Given the description of an element on the screen output the (x, y) to click on. 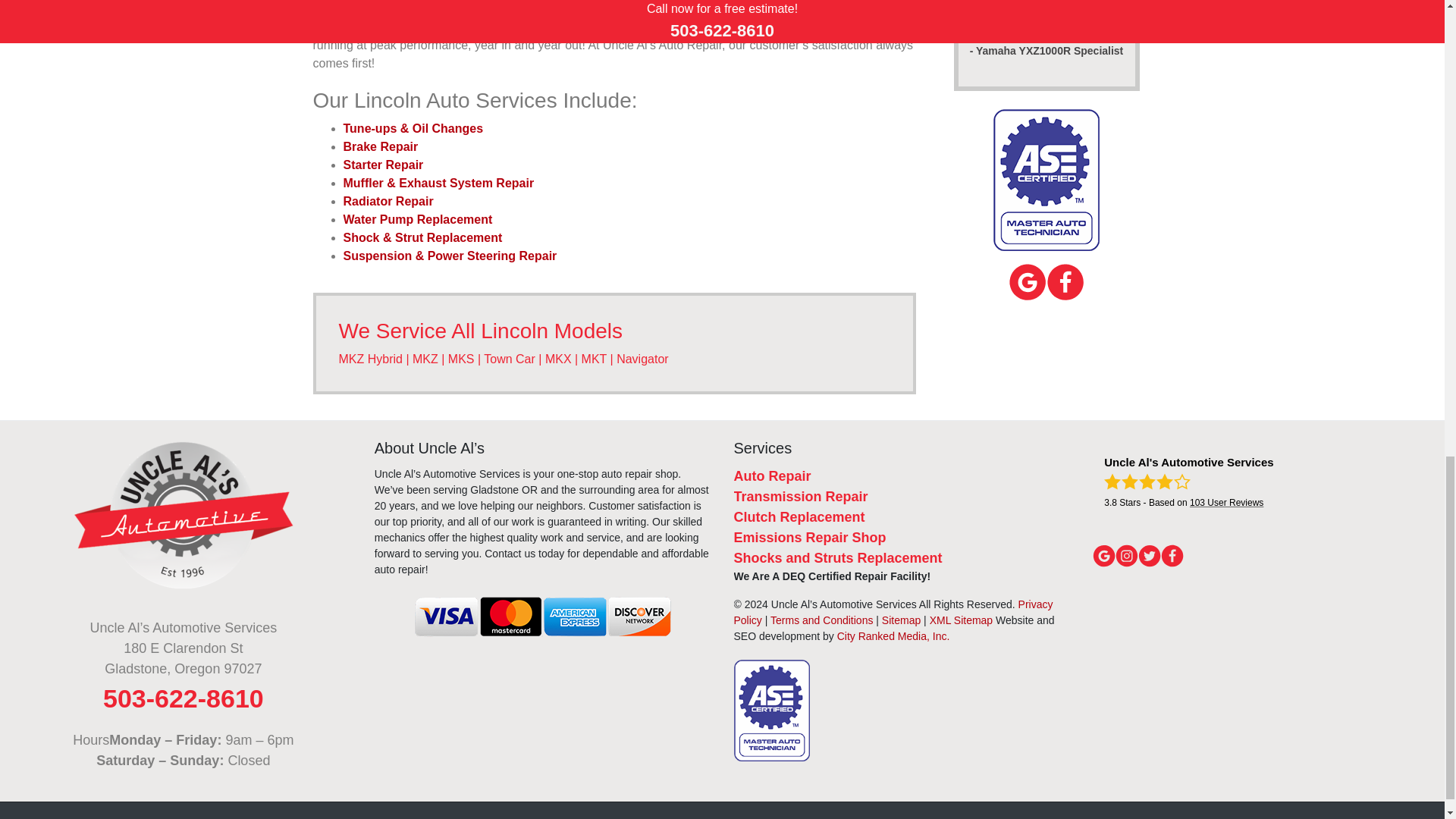
Brake Repair (379, 146)
Water Pump Replacement (417, 219)
Starter Repair (382, 164)
Radiator Repair (387, 201)
Auto Repair (771, 476)
503-622-8610 (183, 697)
Transmission Repair (800, 496)
